Given the description of an element on the screen output the (x, y) to click on. 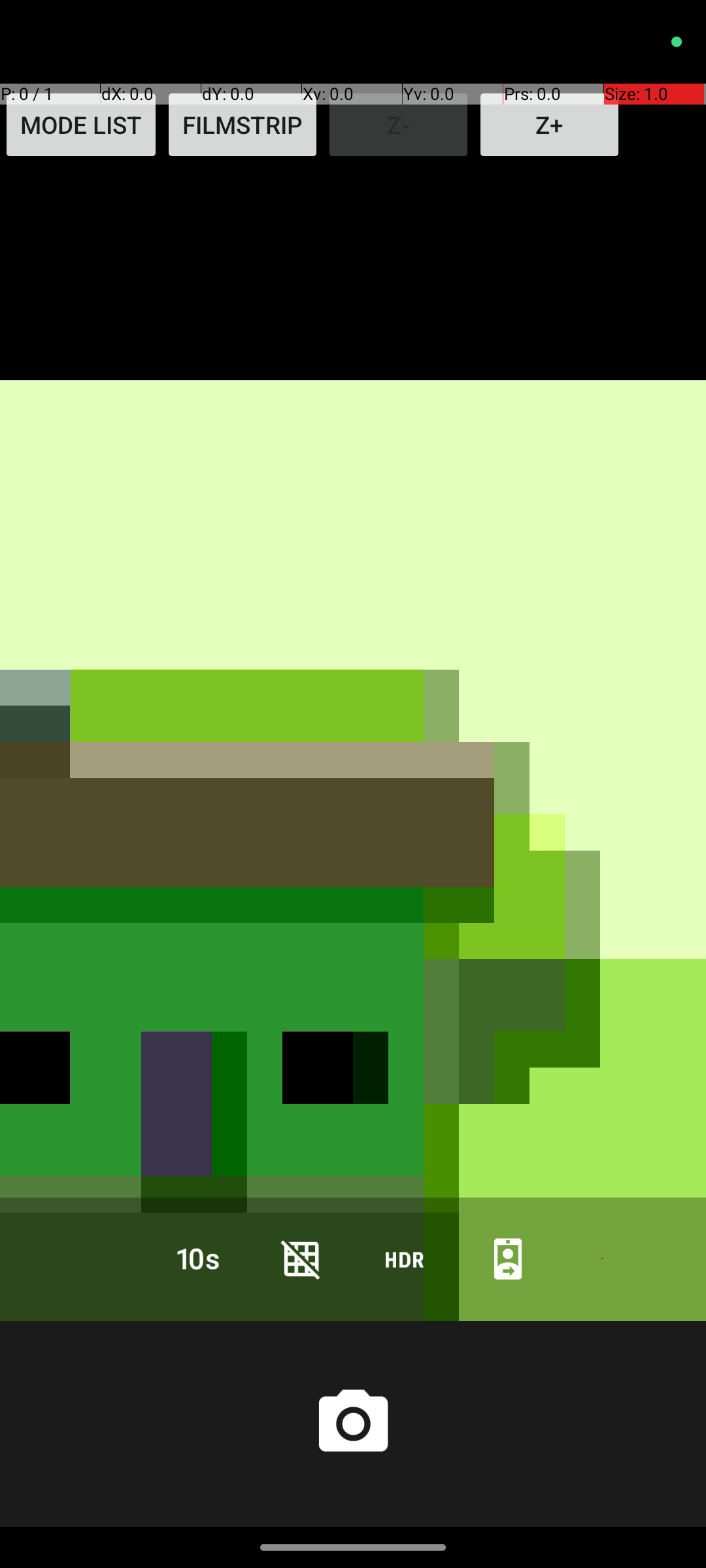
Countdown timer duration is set to 10 seconds Element type: android.widget.ImageButton (197, 1258)
